Given the description of an element on the screen output the (x, y) to click on. 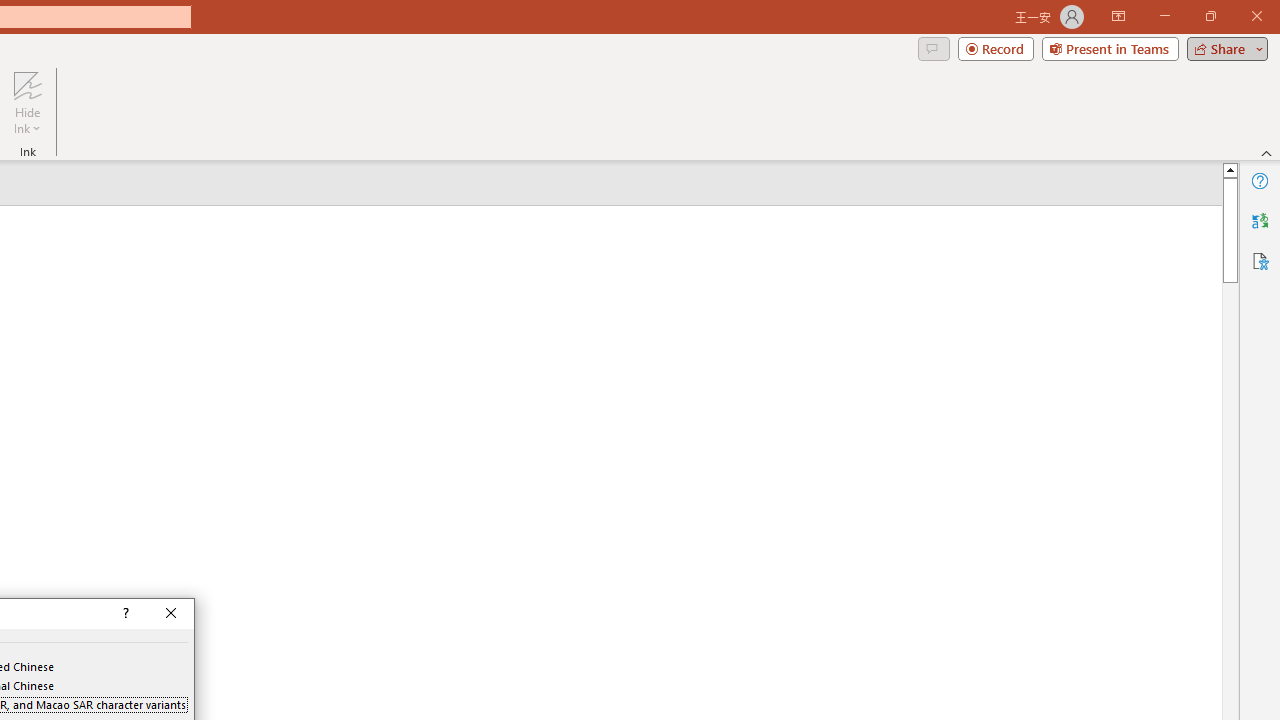
Hide Ink (27, 84)
Context help (124, 614)
Hide Ink (27, 102)
